Given the description of an element on the screen output the (x, y) to click on. 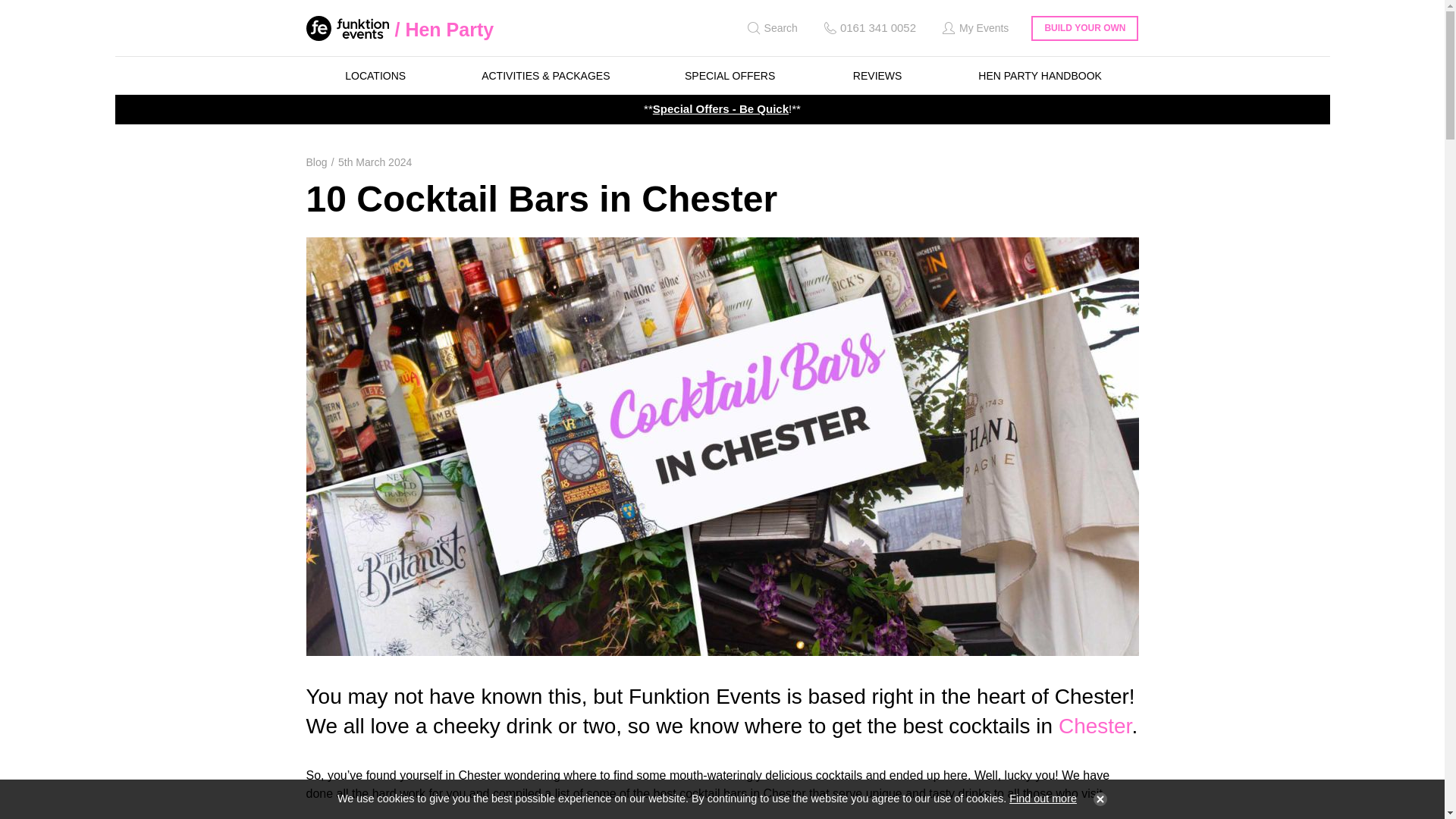
Search (770, 28)
Find event you are looking for (770, 28)
LOCATIONS (375, 75)
HEN PARTY HANDBOOK (1040, 75)
Hen Party (443, 29)
SPECIAL OFFERS (729, 75)
My Events (974, 28)
0161 341 0052 (868, 28)
REVIEWS (876, 75)
Chester Hen Party Activities (1095, 725)
